Given the description of an element on the screen output the (x, y) to click on. 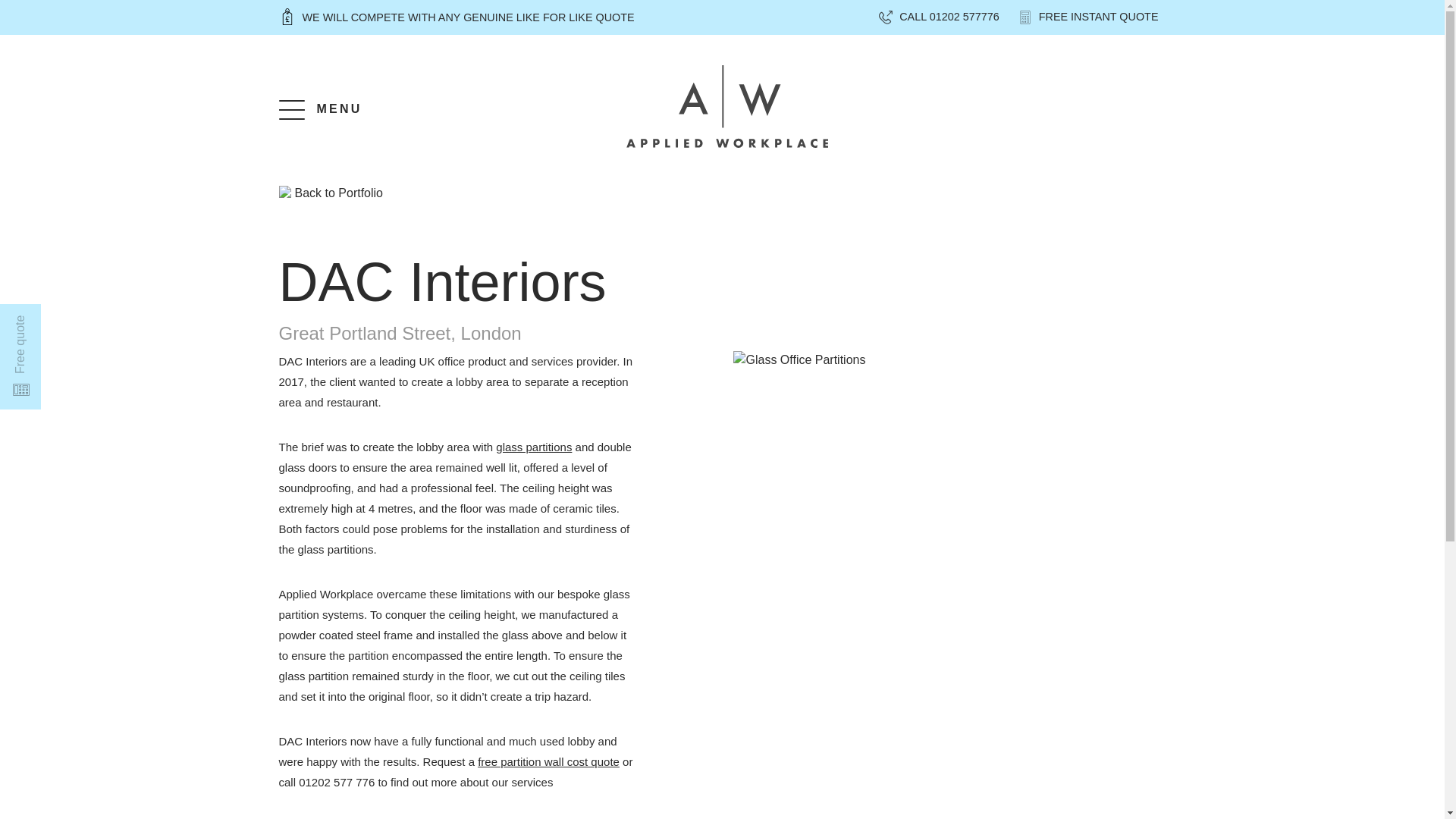
WE WILL COMPETE WITH ANY GENUINE LIKE FOR LIKE QUOTE (456, 16)
FREE INSTANT QUOTE (1086, 16)
CALL 01202 577776 (936, 16)
